Given the description of an element on the screen output the (x, y) to click on. 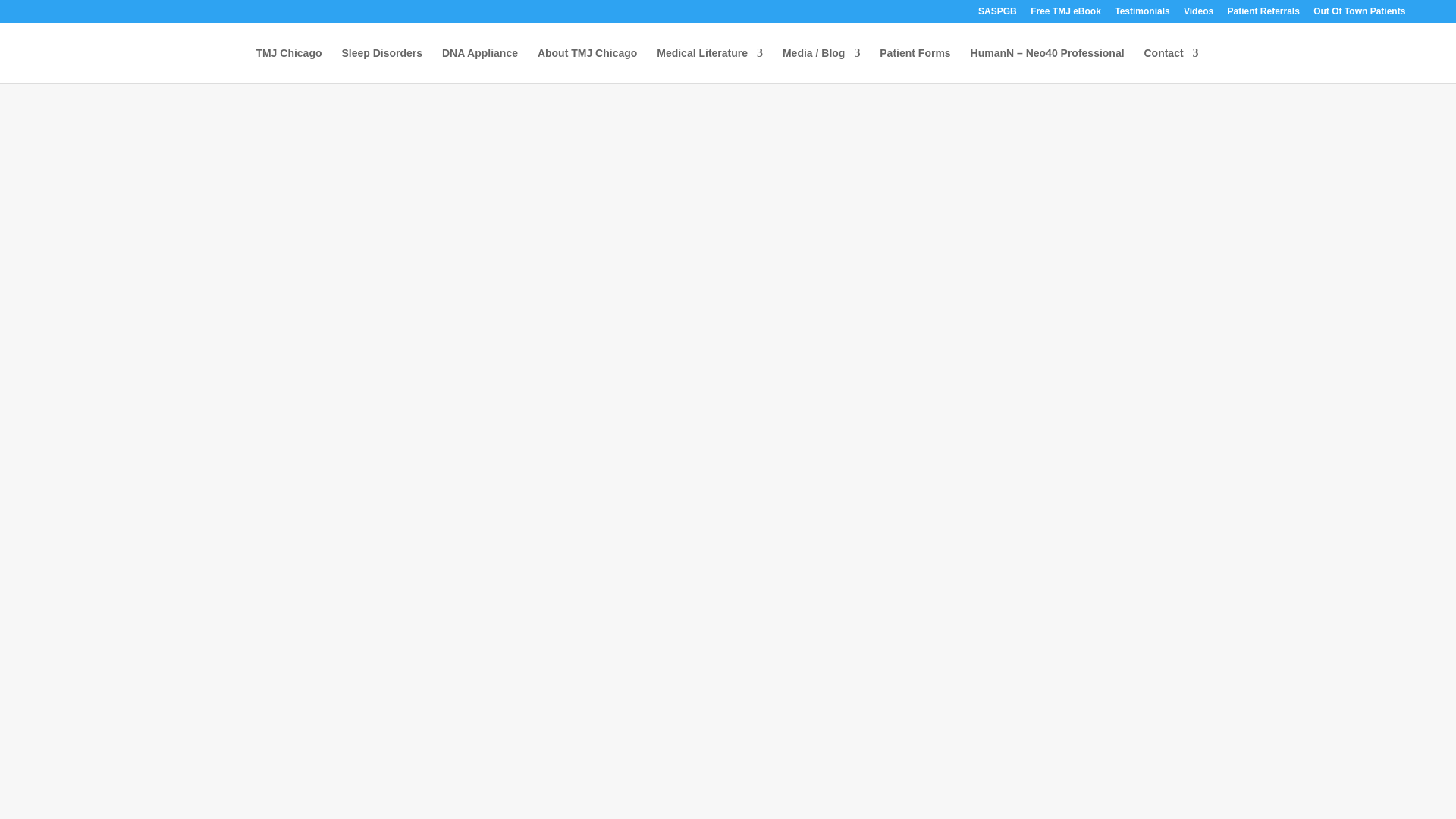
SASPGB (997, 14)
Out Of Town Patients (1359, 14)
Testimonials (1142, 14)
Medical Literature (709, 65)
Videos (1197, 14)
About TMJ Chicago (587, 65)
DNA Appliance Chicago (480, 65)
TMJ Chicago (288, 65)
Sleep Disorders (381, 65)
Contact (1170, 65)
